Given the description of an element on the screen output the (x, y) to click on. 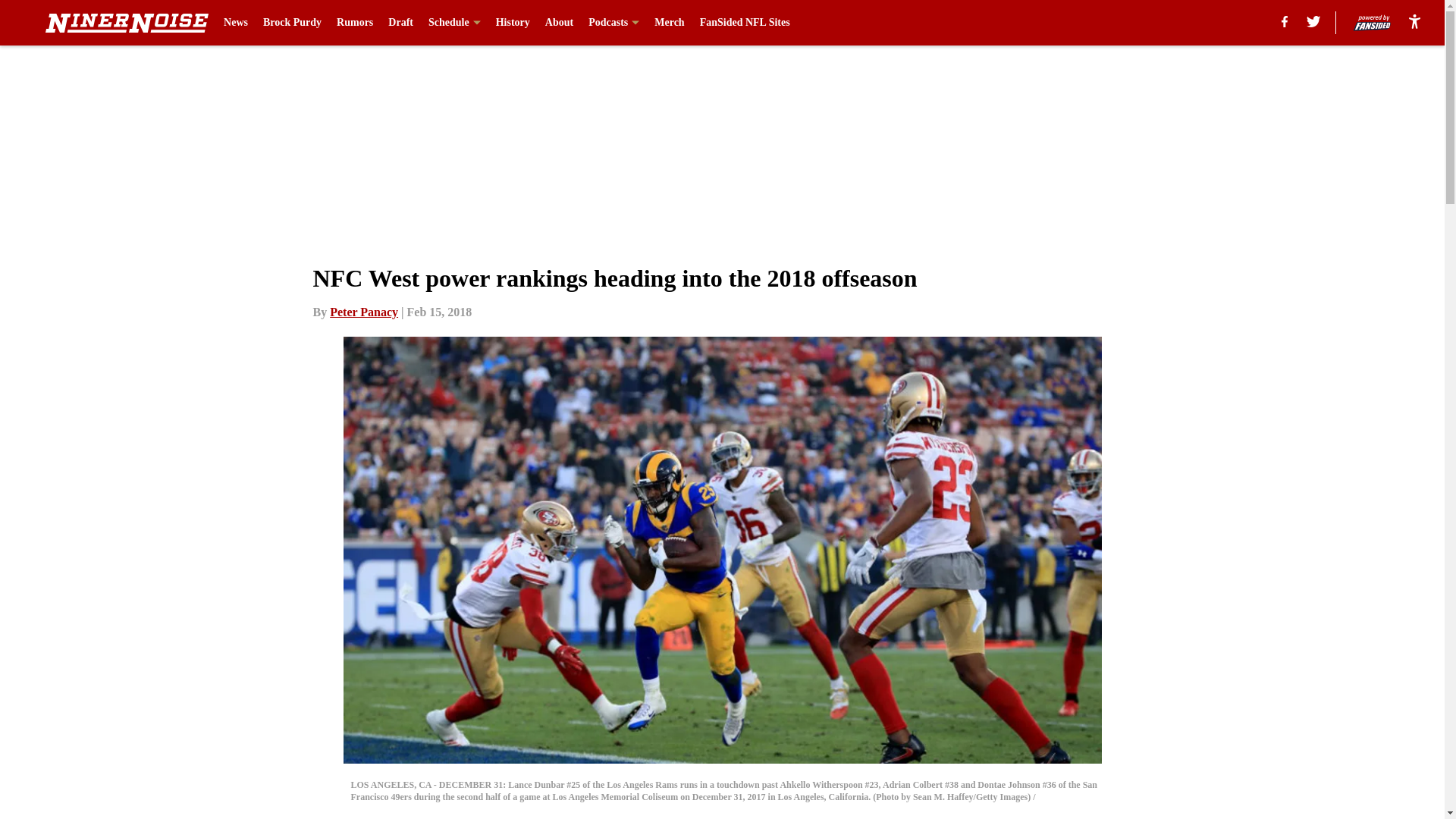
Brock Purdy (292, 22)
FanSided NFL Sites (745, 22)
History (512, 22)
Rumors (354, 22)
Peter Panacy (363, 311)
Draft (400, 22)
Merch (668, 22)
News (235, 22)
About (558, 22)
